Given the description of an element on the screen output the (x, y) to click on. 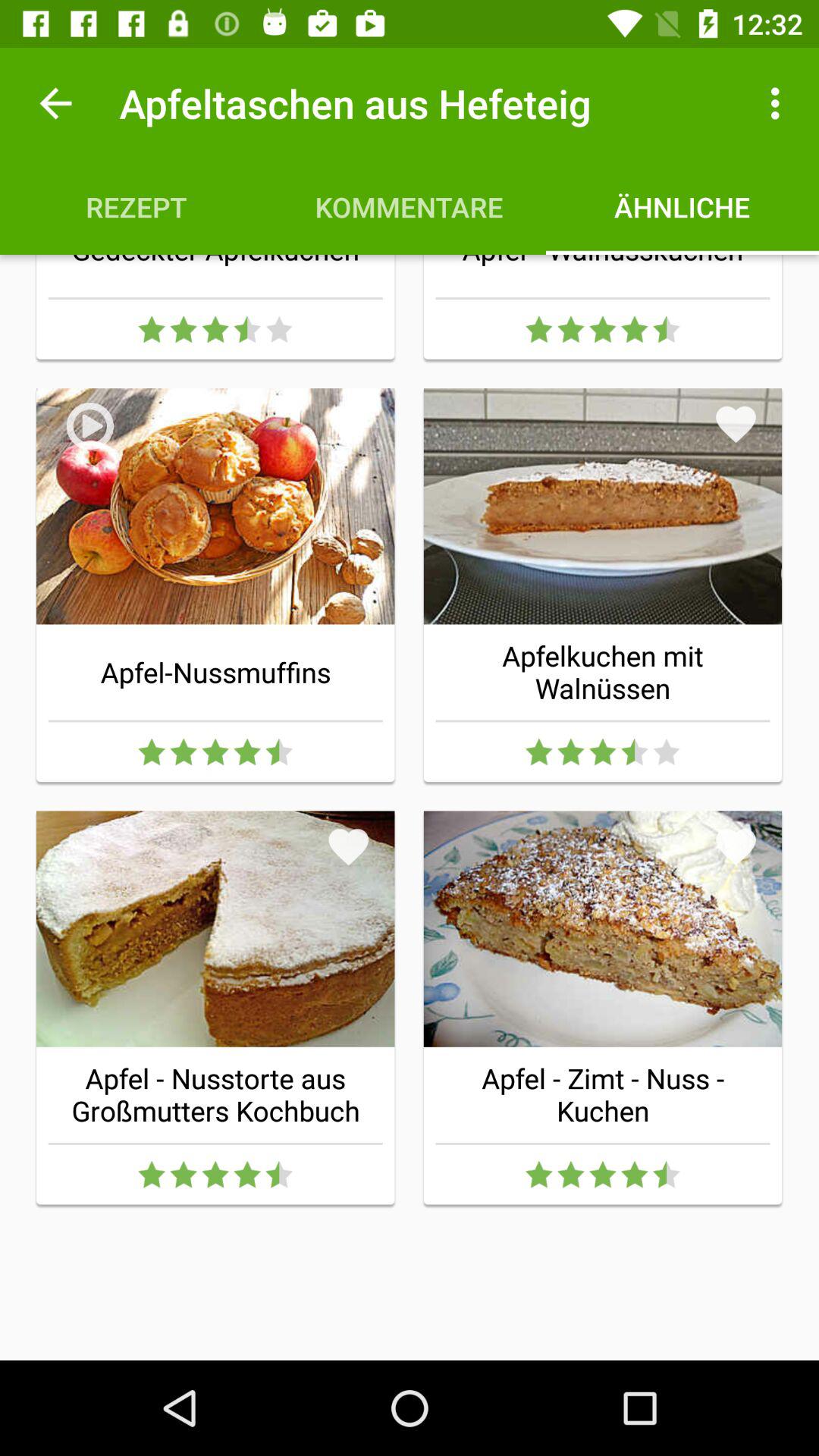
turn off the item above the rezept icon (55, 103)
